Given the description of an element on the screen output the (x, y) to click on. 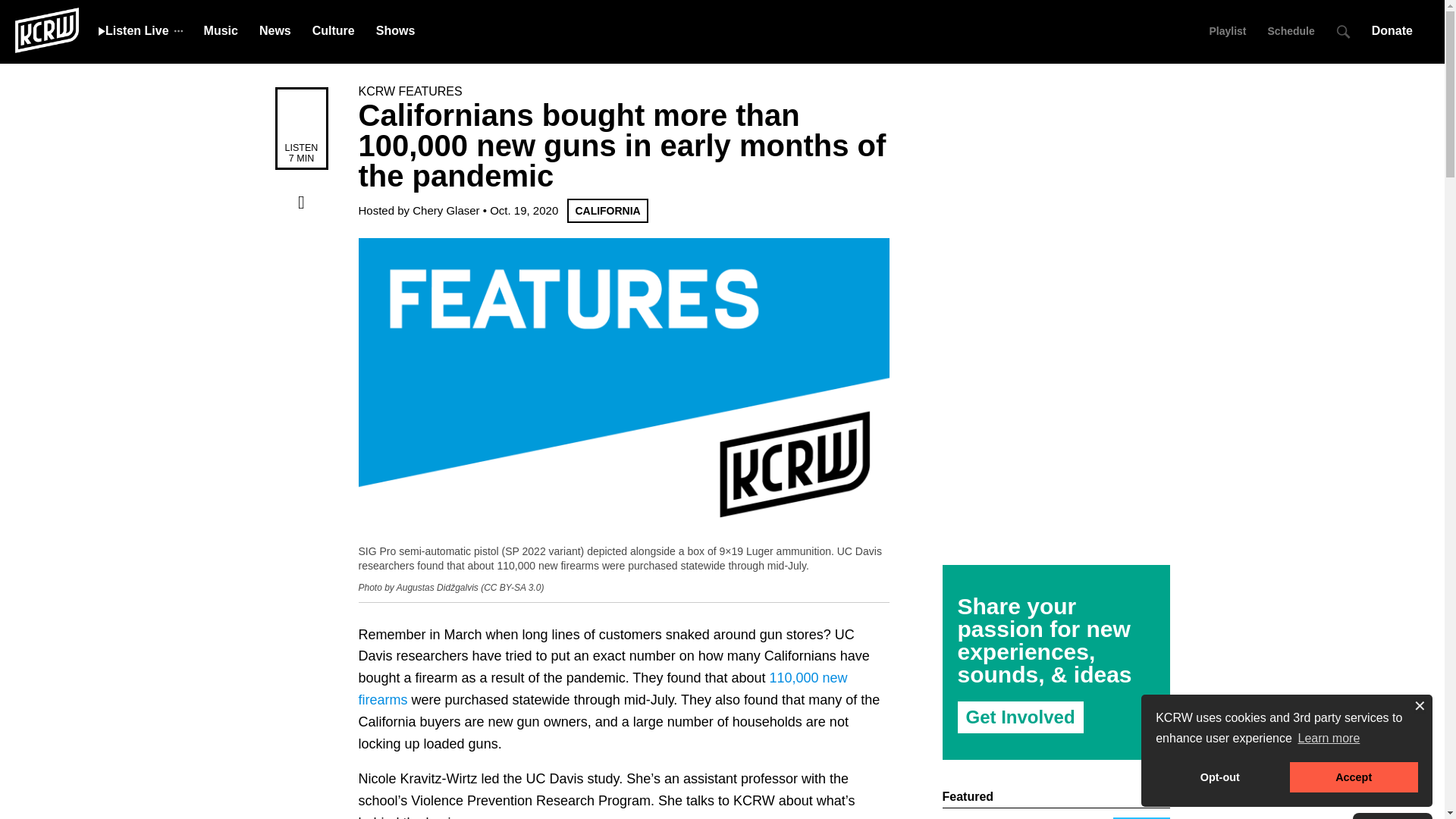
Schedule (1291, 30)
KCRW FEATURES (409, 91)
Chery Glaser (445, 210)
Share on Facebook (301, 202)
Download Audio (301, 233)
News (275, 30)
Accept (1354, 777)
Get embed code (301, 295)
Culture (334, 30)
Opt-out (1220, 777)
110,000 new firearms (602, 688)
Share via Email (301, 326)
Listen Live (133, 30)
Shows (394, 30)
KCRW (46, 29)
